Given the description of an element on the screen output the (x, y) to click on. 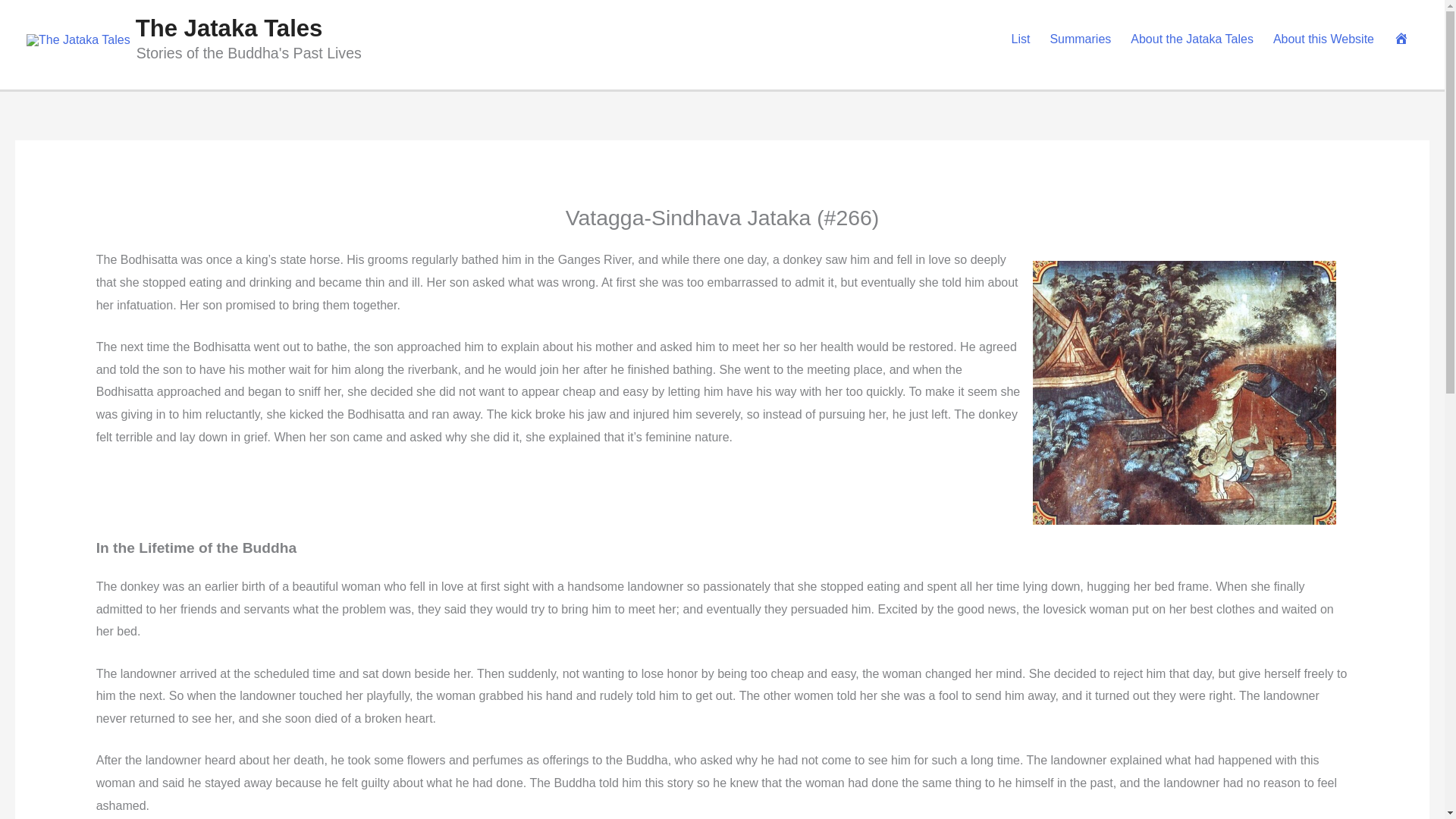
The Jataka Tales (229, 28)
About this Website (1323, 39)
About the Jataka Tales (1192, 39)
Summaries (1080, 39)
